Given the description of an element on the screen output the (x, y) to click on. 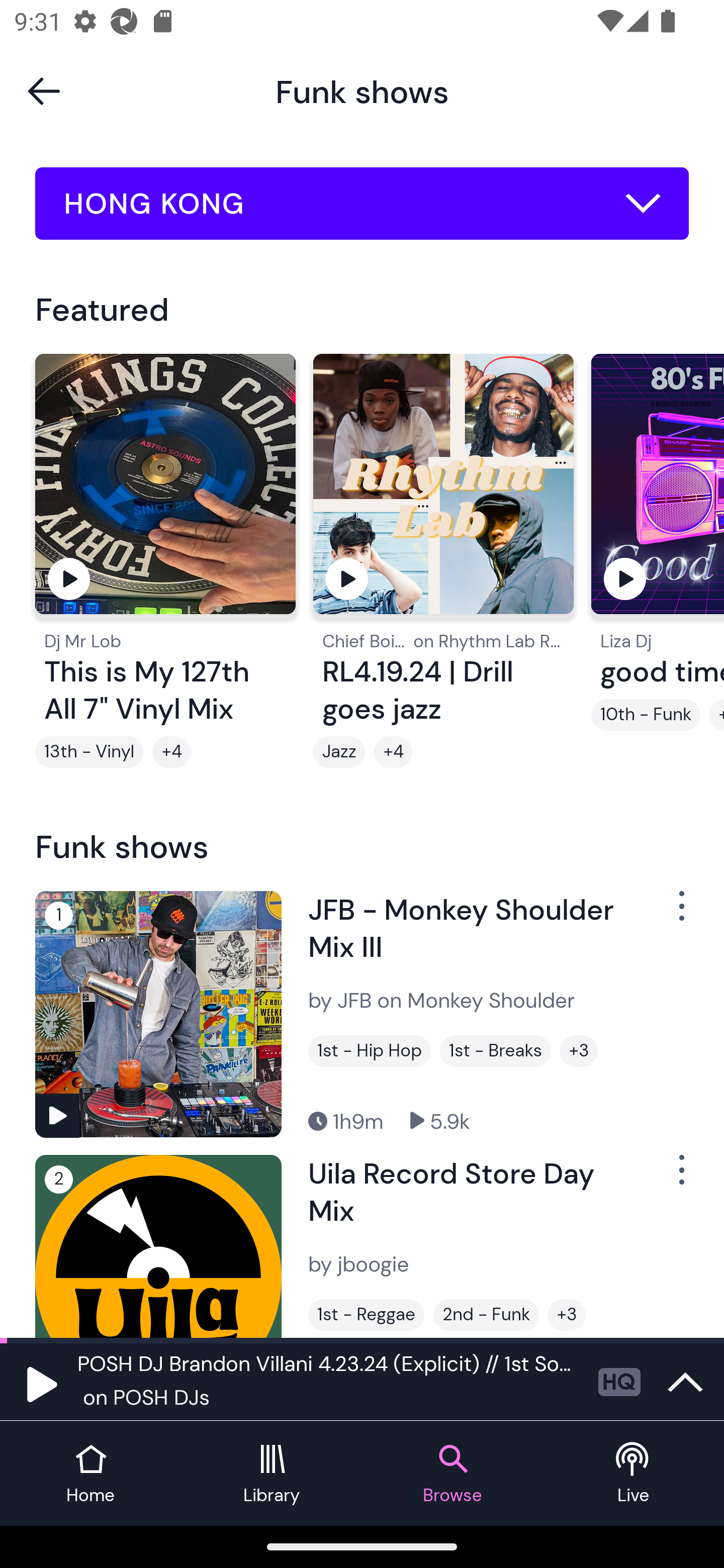
HONG KONG (361, 203)
10th - Funk (645, 714)
13th - Vinyl (89, 752)
Jazz (338, 752)
Show Options Menu Button (679, 913)
1st - Hip Hop (369, 1050)
1st - Breaks (495, 1050)
Show Options Menu Button (679, 1178)
1st - Reggae (366, 1315)
2nd - Funk (485, 1315)
Home tab Home (90, 1473)
Library tab Library (271, 1473)
Browse tab Browse (452, 1473)
Live tab Live (633, 1473)
